Given the description of an element on the screen output the (x, y) to click on. 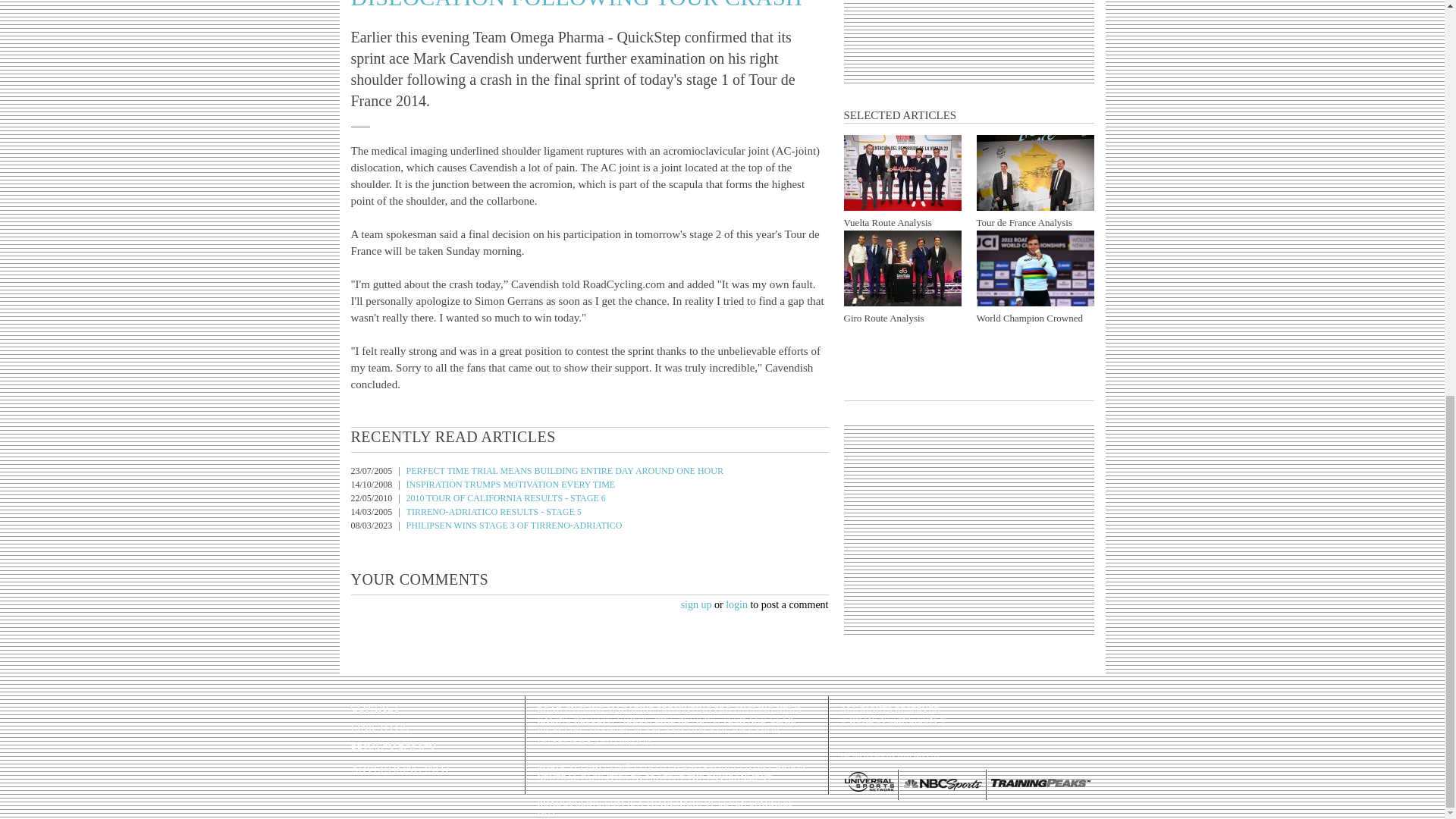
sign up (696, 604)
2010 TOUR OF CALIFORNIA RESULTS - STAGE 6 (505, 498)
INSPIRATION TRUMPS MOTIVATION EVERY TIME (510, 484)
TIRRENO-ADRIATICO RESULTS - STAGE 5 (493, 511)
login (736, 604)
PERFECT TIME TRIAL MEANS BUILDING ENTIRE DAY AROUND ONE HOUR (564, 470)
PHILIPSEN WINS STAGE 3 OF TIRRENO-ADRIATICO (514, 525)
